Given the description of an element on the screen output the (x, y) to click on. 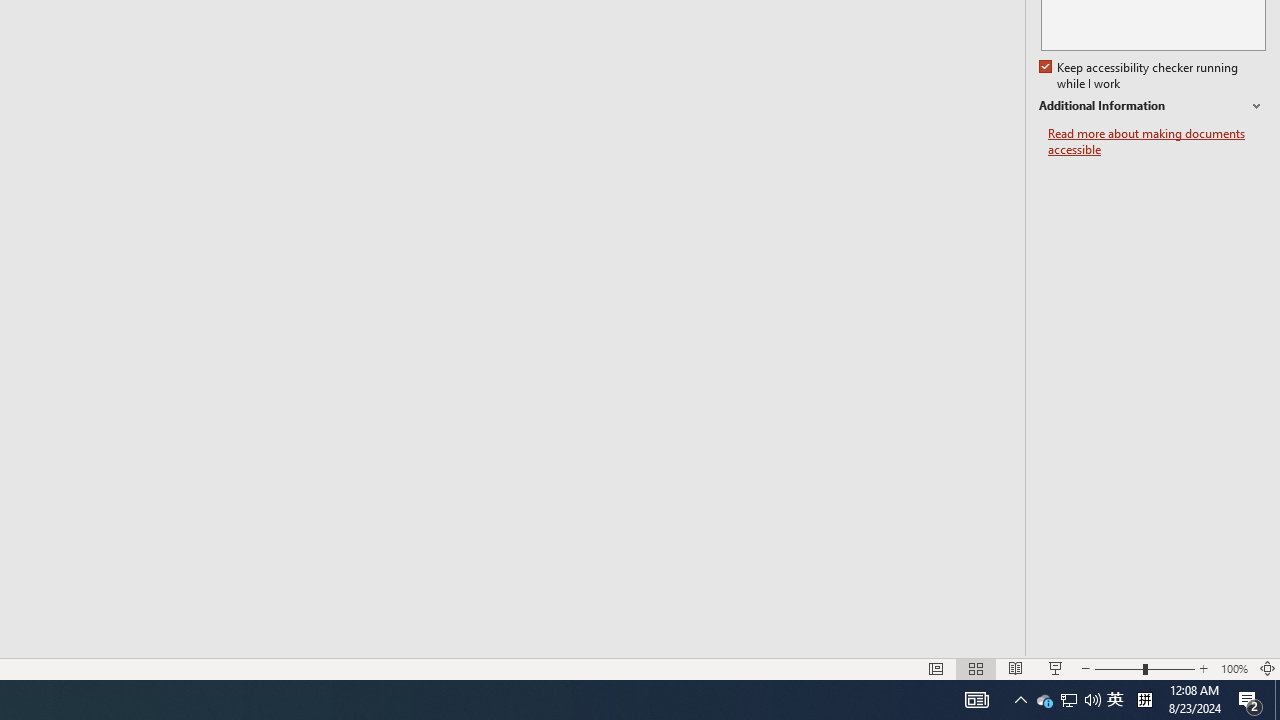
Read more about making documents accessible (1156, 142)
Additional Information (1152, 106)
Keep accessibility checker running while I work (1140, 76)
Zoom 100% (1234, 668)
